Given the description of an element on the screen output the (x, y) to click on. 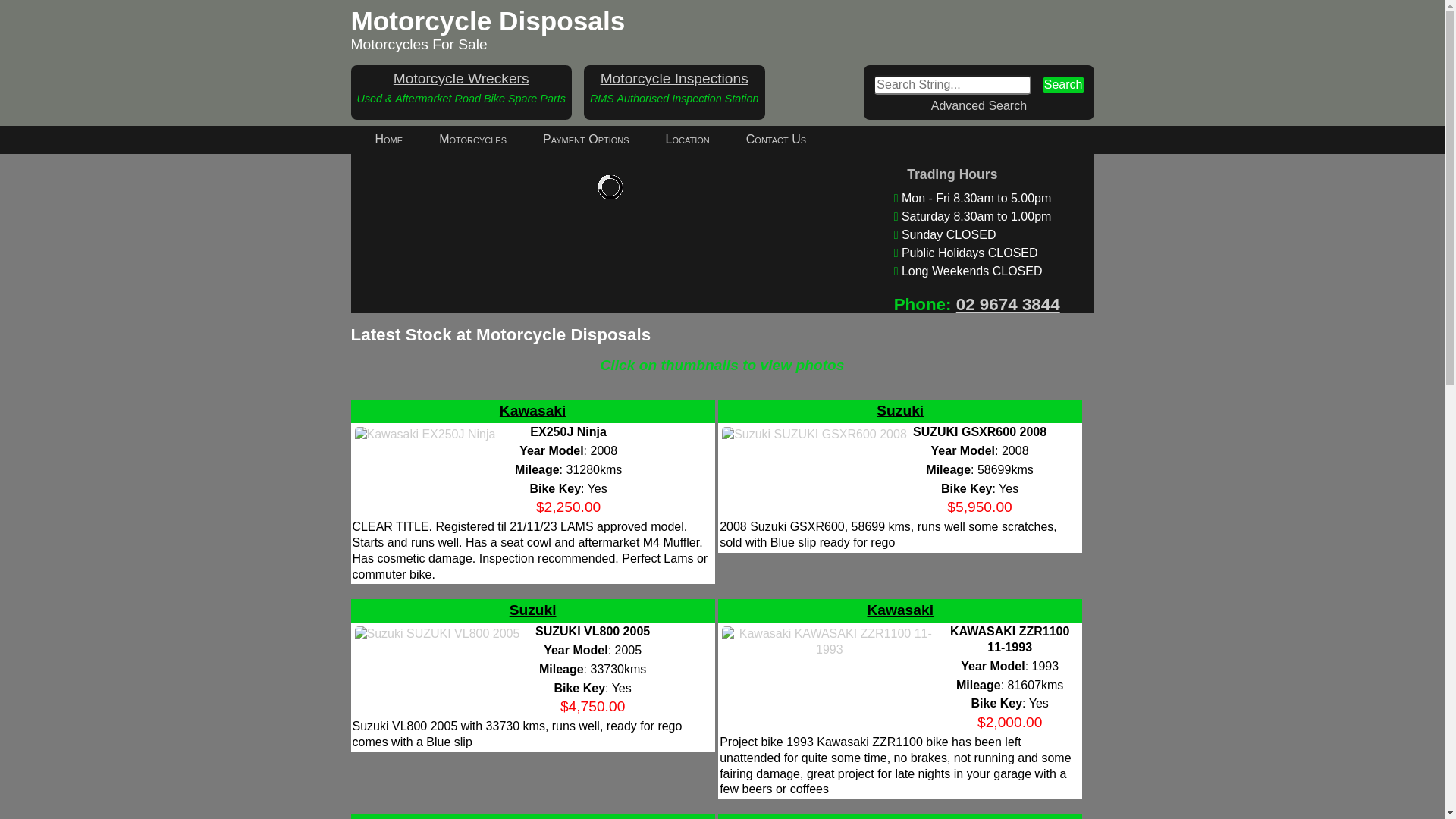
Contact Us Element type: text (776, 139)
Advanced Search Element type: text (978, 105)
02 9674 3844 Element type: text (1008, 303)
Search Element type: text (1063, 84)
Location Element type: text (687, 139)
Payment Options Element type: text (585, 139)
Home Element type: text (388, 139)
Kawasaki Element type: text (532, 410)
Kawasaki Element type: text (900, 610)
Motorcycle Inspections Element type: text (674, 78)
Motorcycles Element type: text (472, 139)
Motorcycle Wreckers Element type: text (461, 78)
Suzuki Element type: text (532, 610)
Suzuki Element type: text (899, 410)
